Given the description of an element on the screen output the (x, y) to click on. 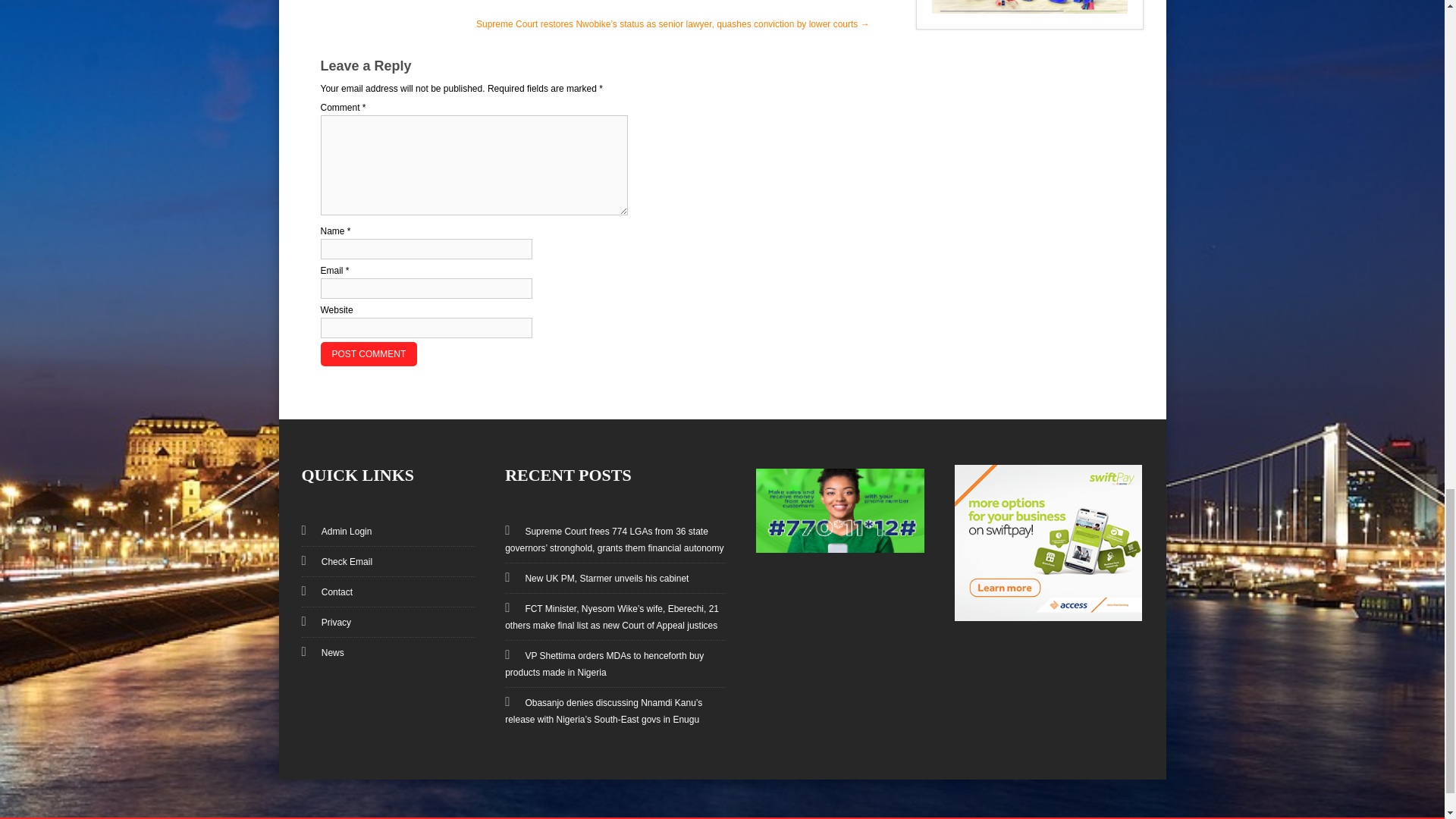
Admin Login (338, 531)
Privacy (327, 622)
Post Comment (368, 354)
Post Comment (368, 354)
Check Email (338, 561)
Contact (328, 592)
